Given the description of an element on the screen output the (x, y) to click on. 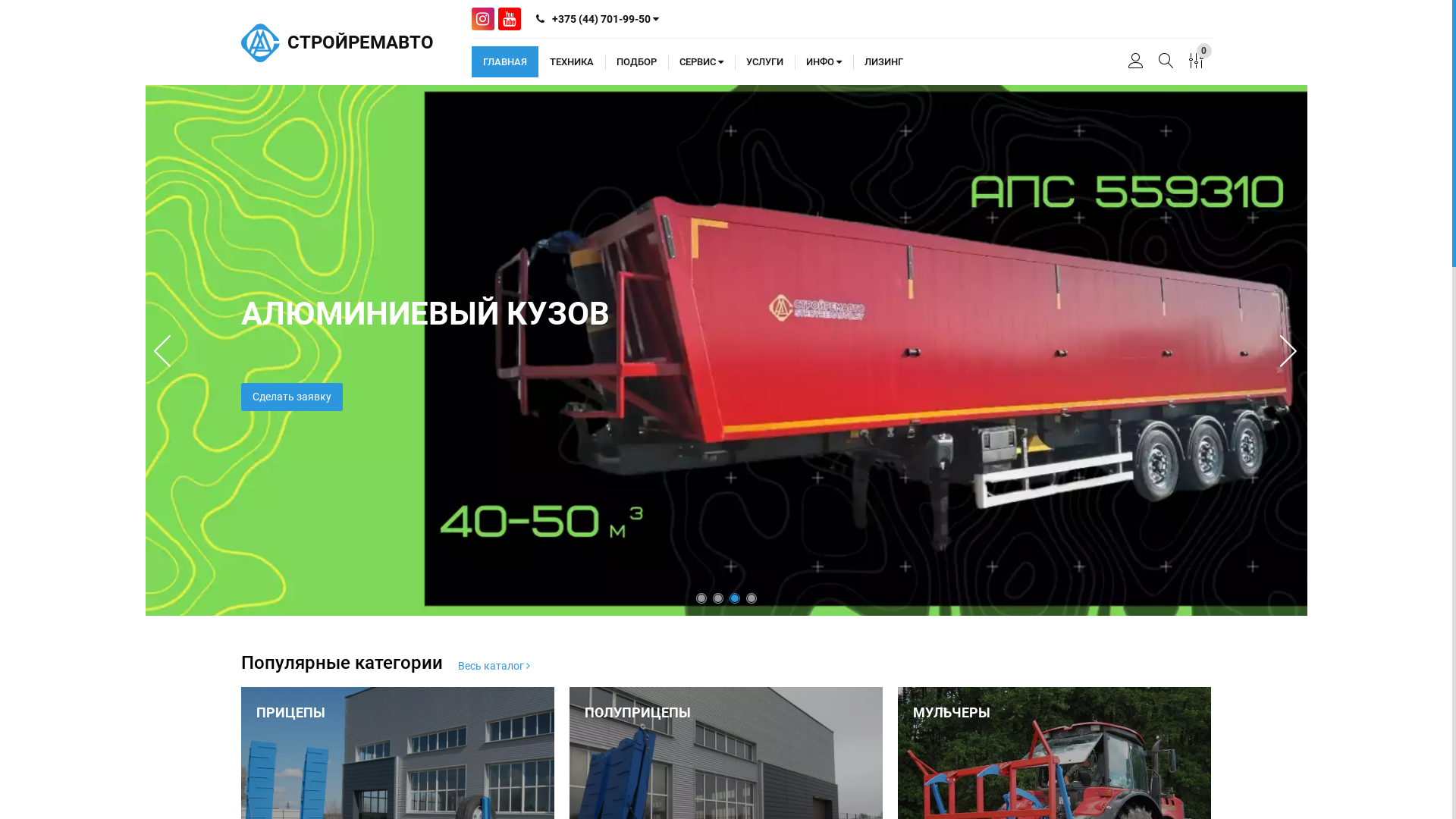
0 Element type: text (1196, 62)
+375 (44) 701-99-50 Element type: text (596, 18)
search Element type: text (1166, 62)
